Given the description of an element on the screen output the (x, y) to click on. 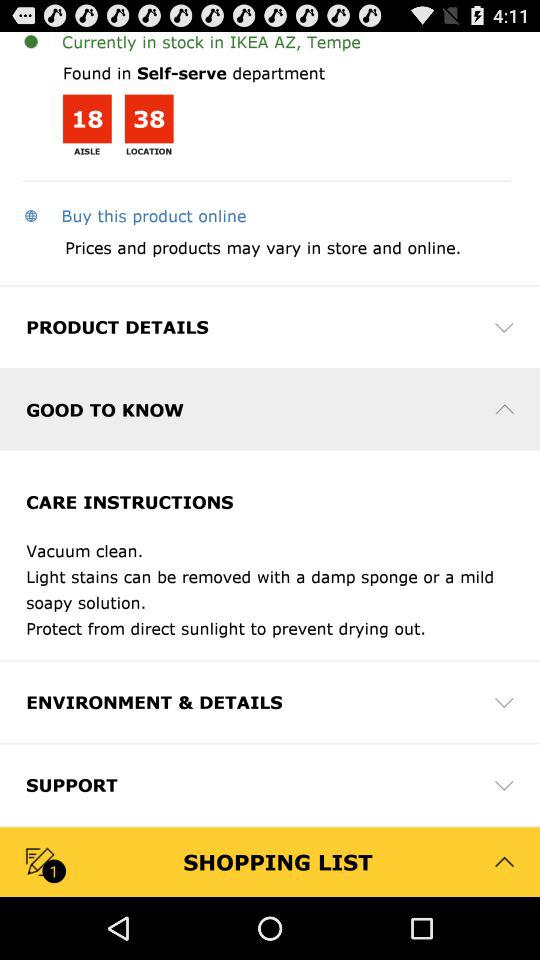
open app above the prices and products app (134, 215)
